Given the description of an element on the screen output the (x, y) to click on. 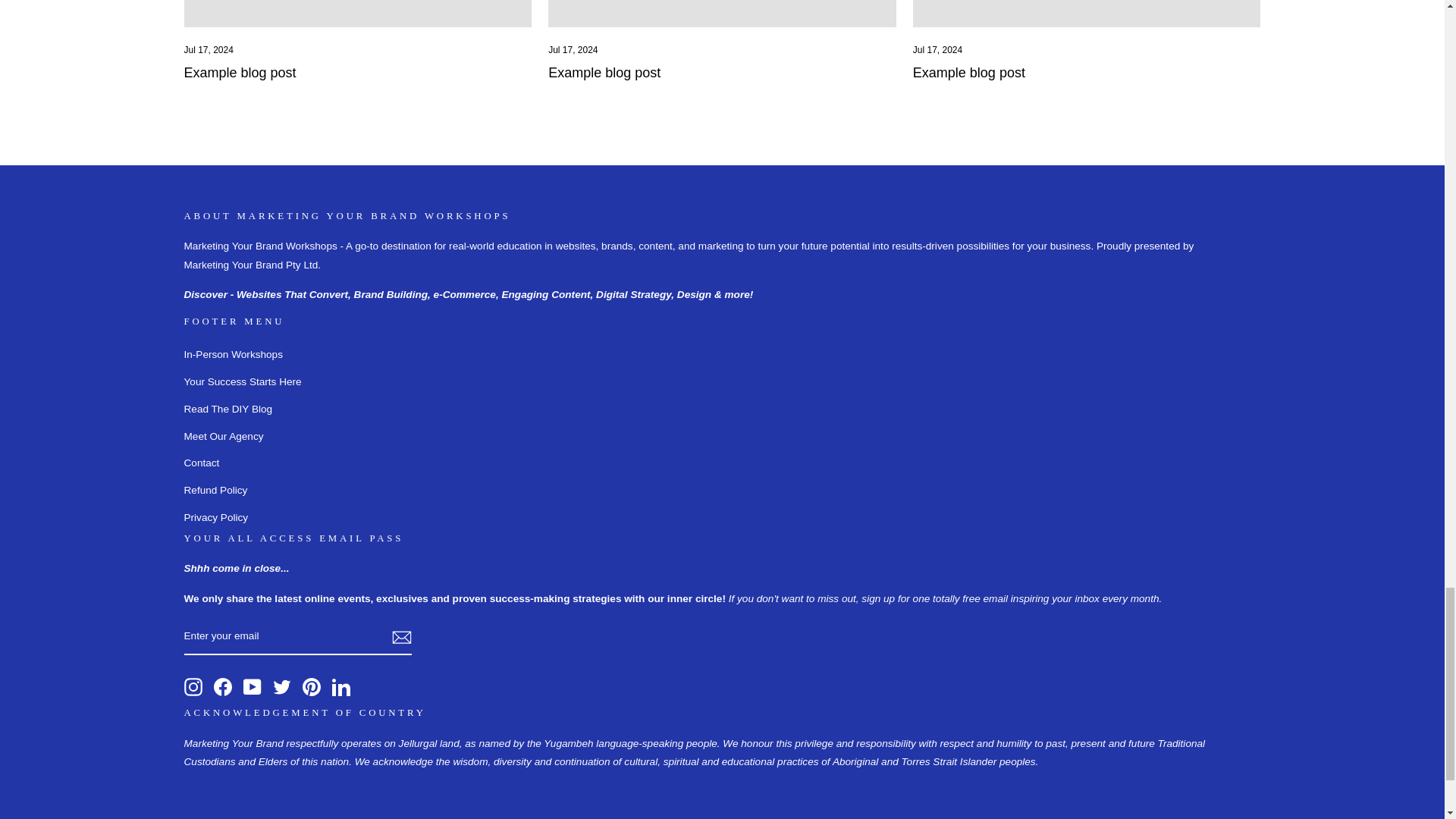
icon-email (400, 637)
Marketing Your Brand Pty Ltd  on Facebook (222, 687)
Marketing Your Brand Pty Ltd  on Instagram (192, 687)
